Given the description of an element on the screen output the (x, y) to click on. 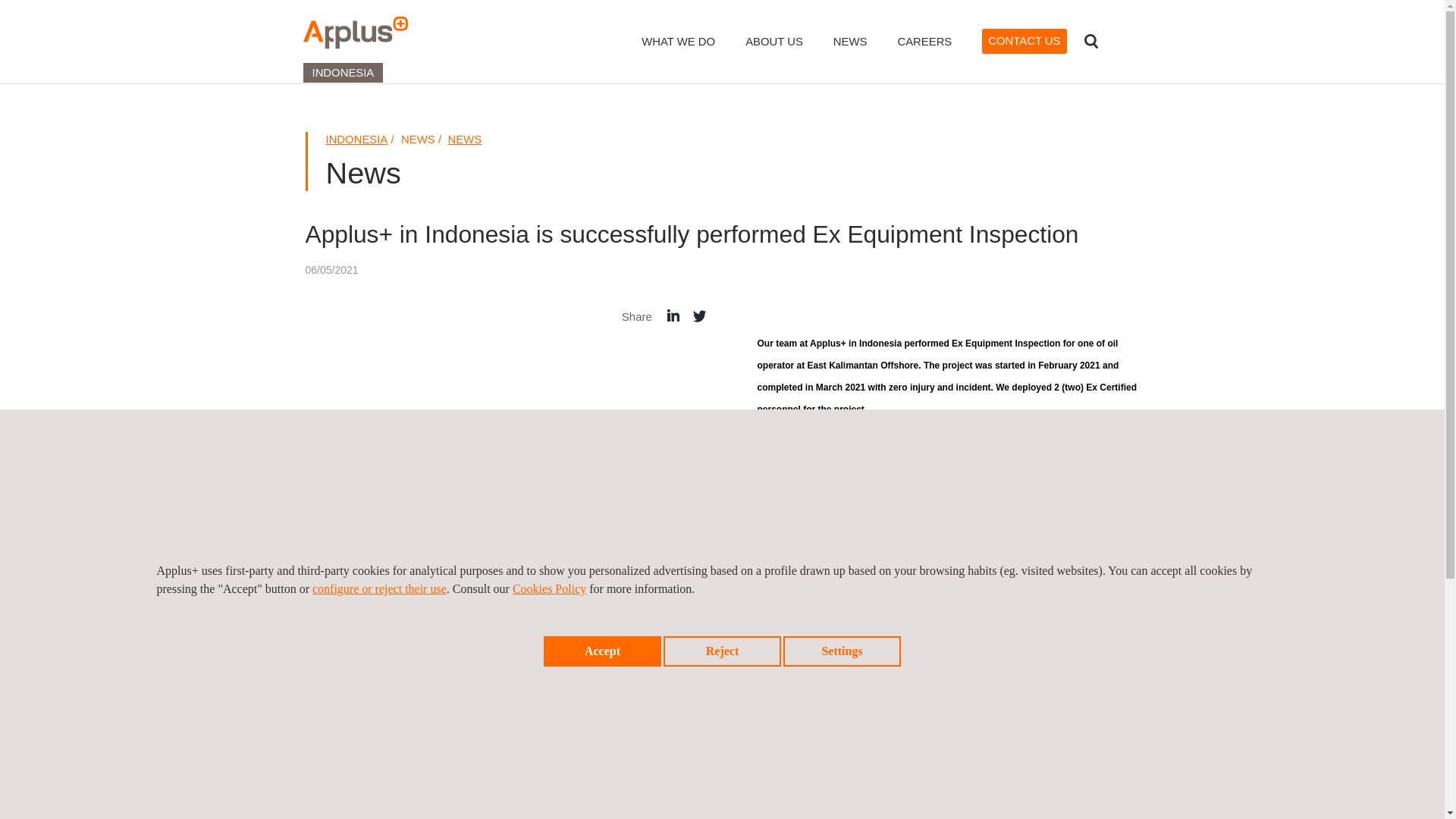
CAREERS (924, 51)
CONTACT US (1023, 41)
Countries (1124, 40)
ABOUT US (774, 51)
WHAT WE DO (678, 51)
NEWS (464, 139)
INDONESIA (357, 139)
